Given the description of an element on the screen output the (x, y) to click on. 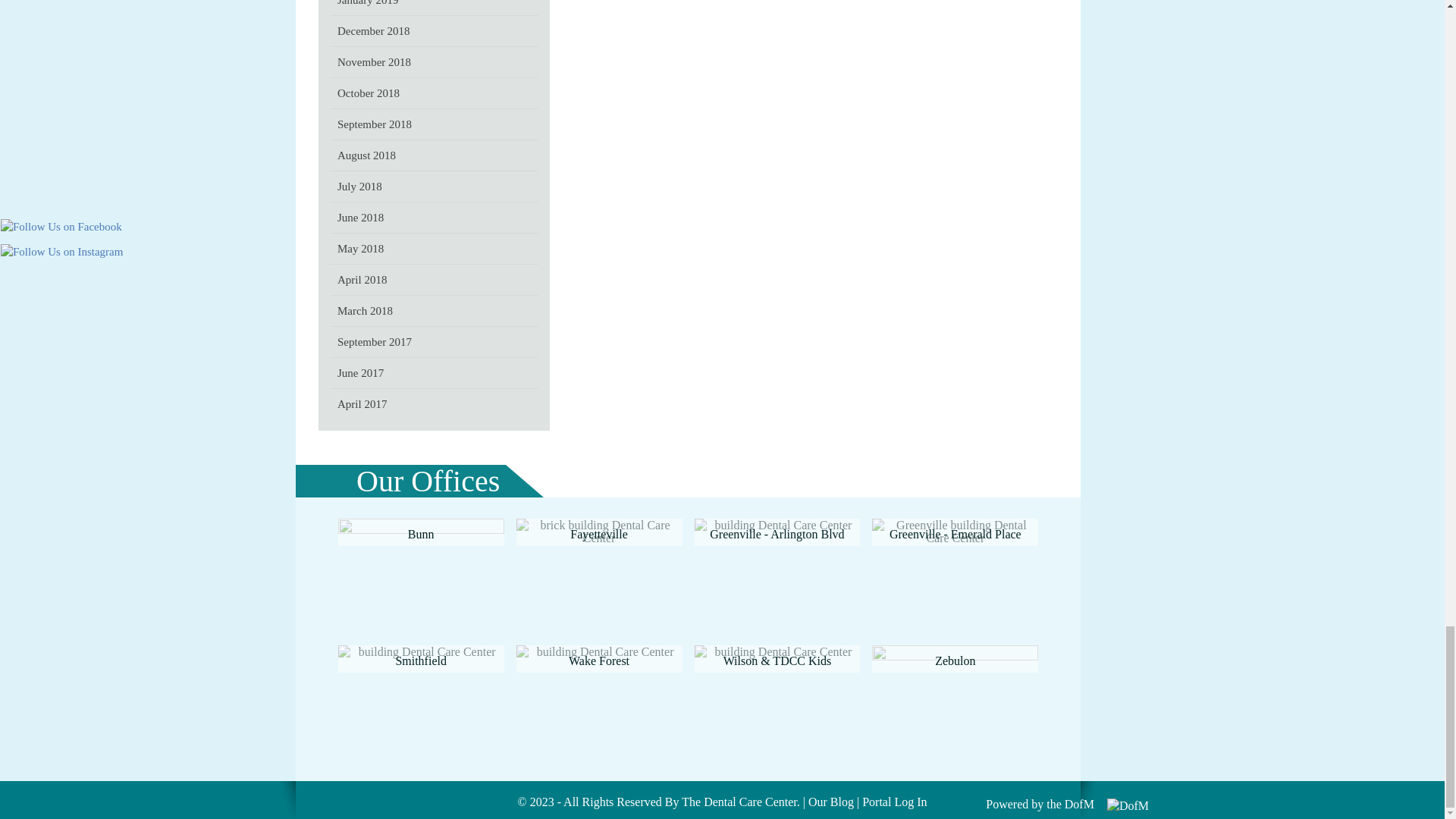
Raleigh Seo Company (1079, 803)
